Given the description of an element on the screen output the (x, y) to click on. 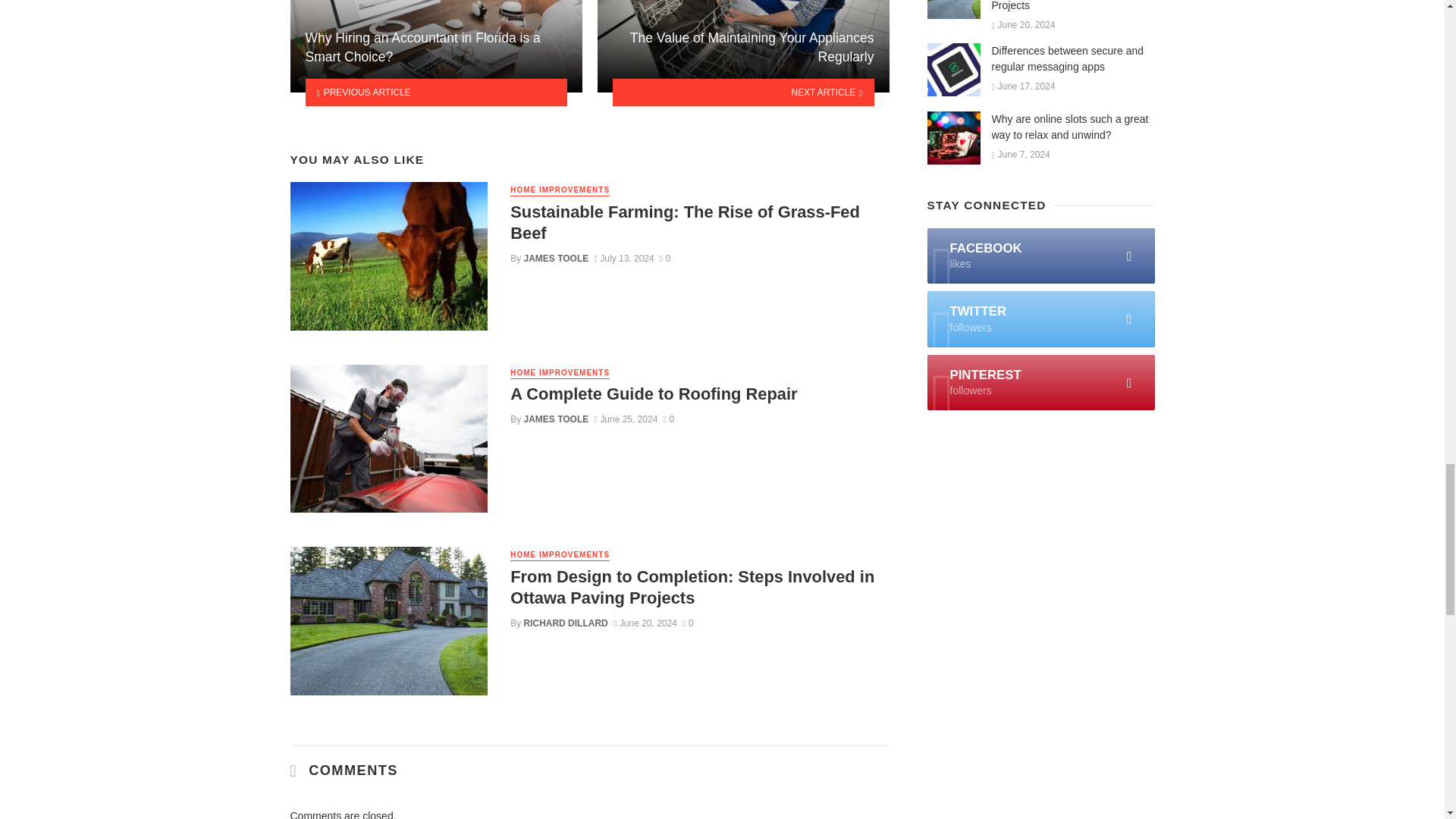
PREVIOUS ARTICLE (434, 92)
HOME IMPROVEMENTS (560, 190)
NEXT ARTICLE (742, 92)
